Given the description of an element on the screen output the (x, y) to click on. 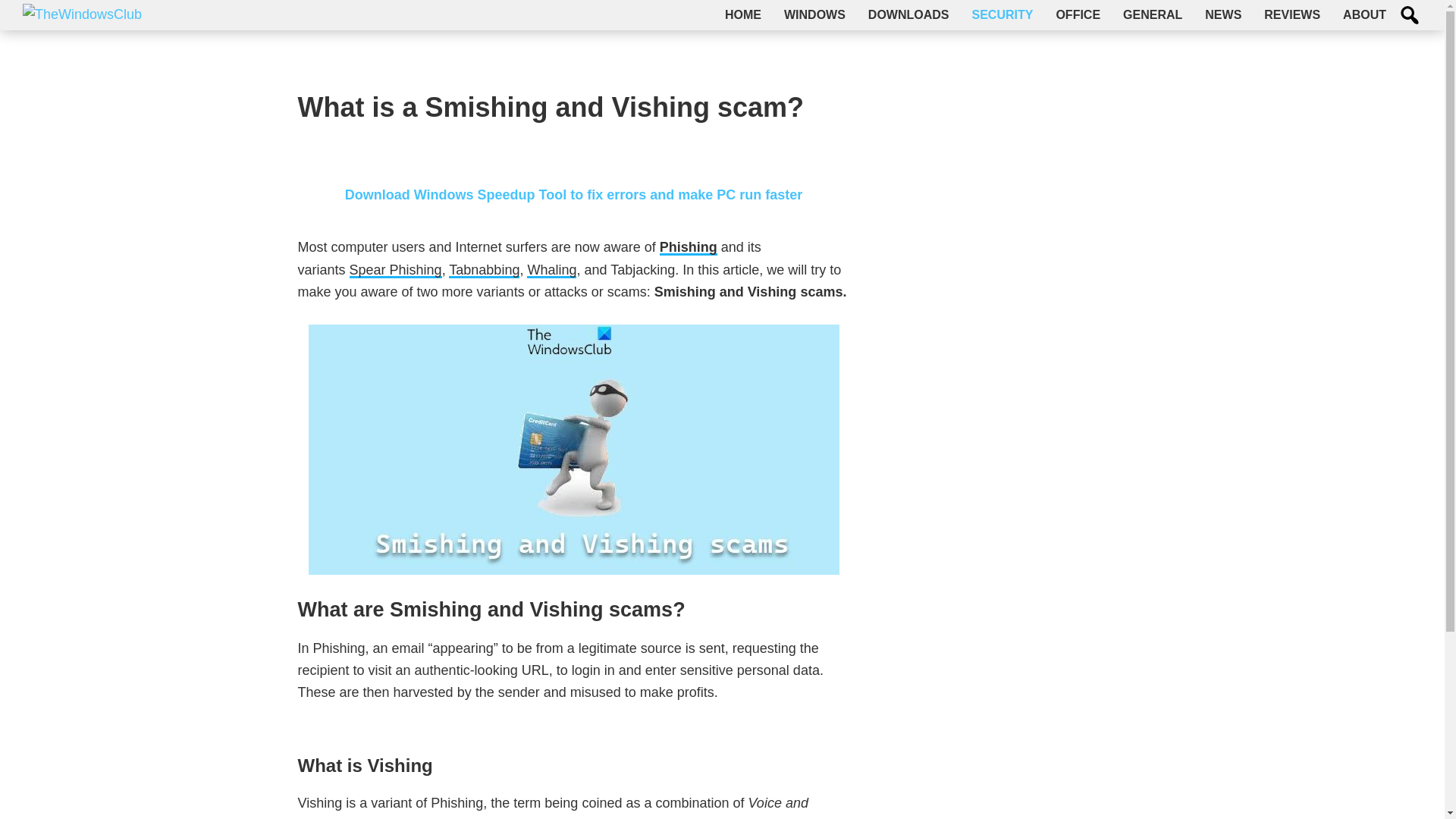
Spear Phishing (395, 270)
WINDOWS (815, 15)
ABOUT (1364, 15)
GENERAL (1152, 15)
SECURITY (1001, 15)
What is Tabnabbing (483, 270)
HOME (743, 15)
Tabnabbing (483, 270)
NEWS (1222, 15)
DOWNLOADS (908, 15)
REVIEWS (1292, 15)
Phishing (688, 247)
OFFICE (1077, 15)
Show Search (1409, 15)
